Given the description of an element on the screen output the (x, y) to click on. 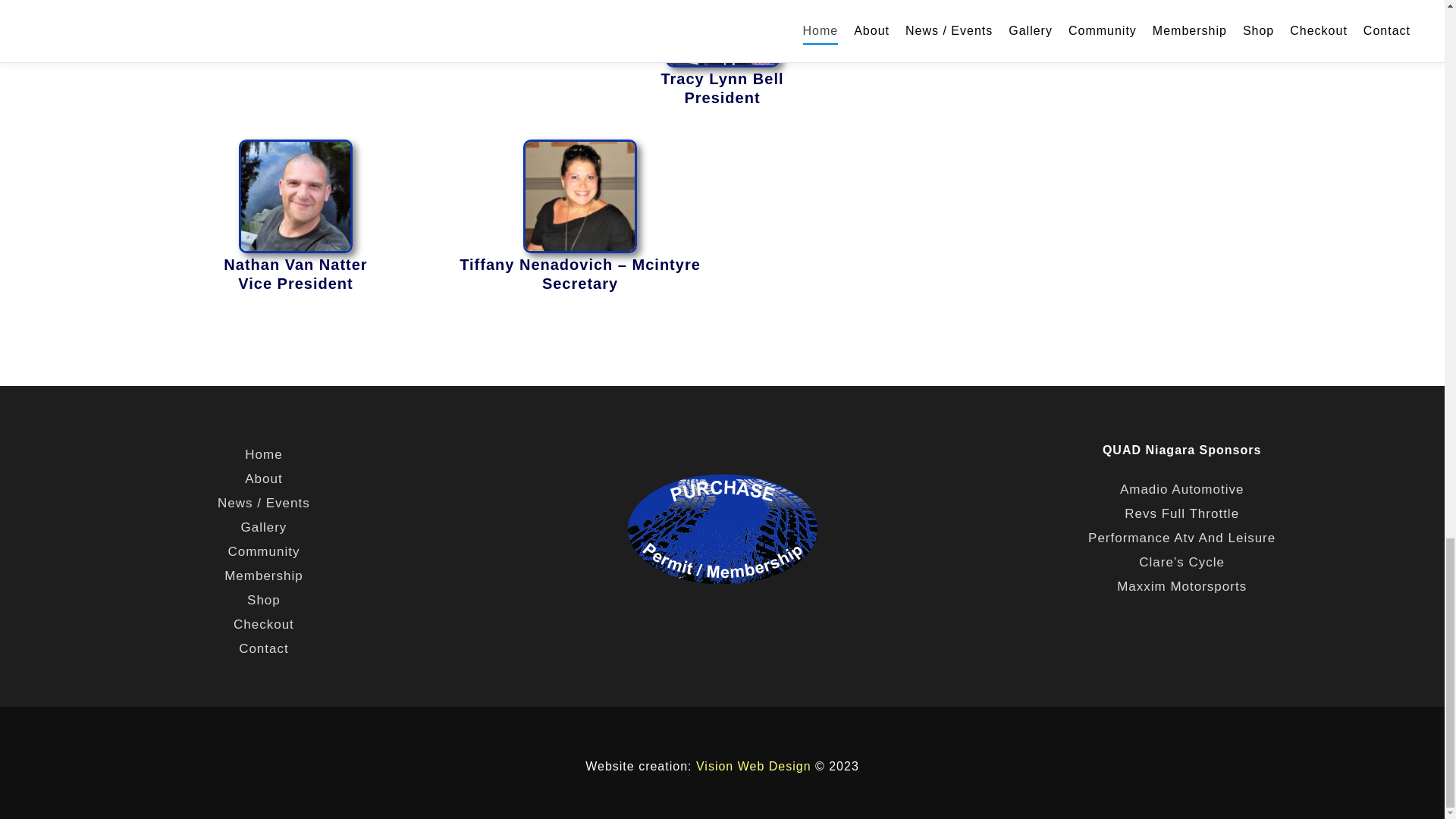
About (264, 478)
Membership (264, 576)
Contact (264, 648)
Shop (264, 600)
Performance Atv And Leisure (1181, 537)
Amadio Automotive (1181, 489)
Checkout (264, 624)
Gallery (264, 527)
Home (264, 454)
Community (264, 551)
Vision Web Design (752, 766)
Maxxim Motorsports (1181, 586)
Revs Full Throttle (1181, 513)
